Given the description of an element on the screen output the (x, y) to click on. 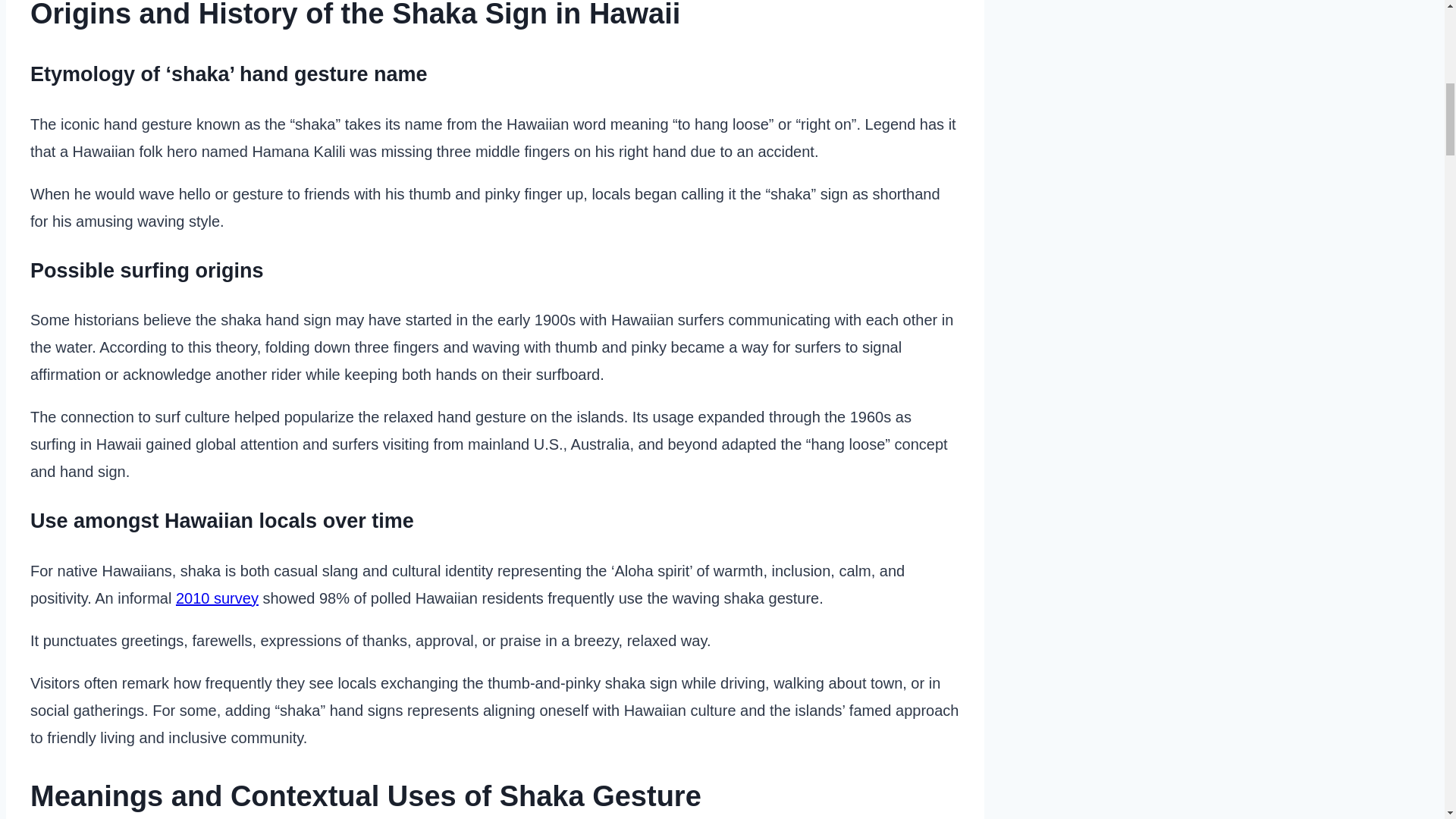
2010 survey (217, 597)
